Given the description of an element on the screen output the (x, y) to click on. 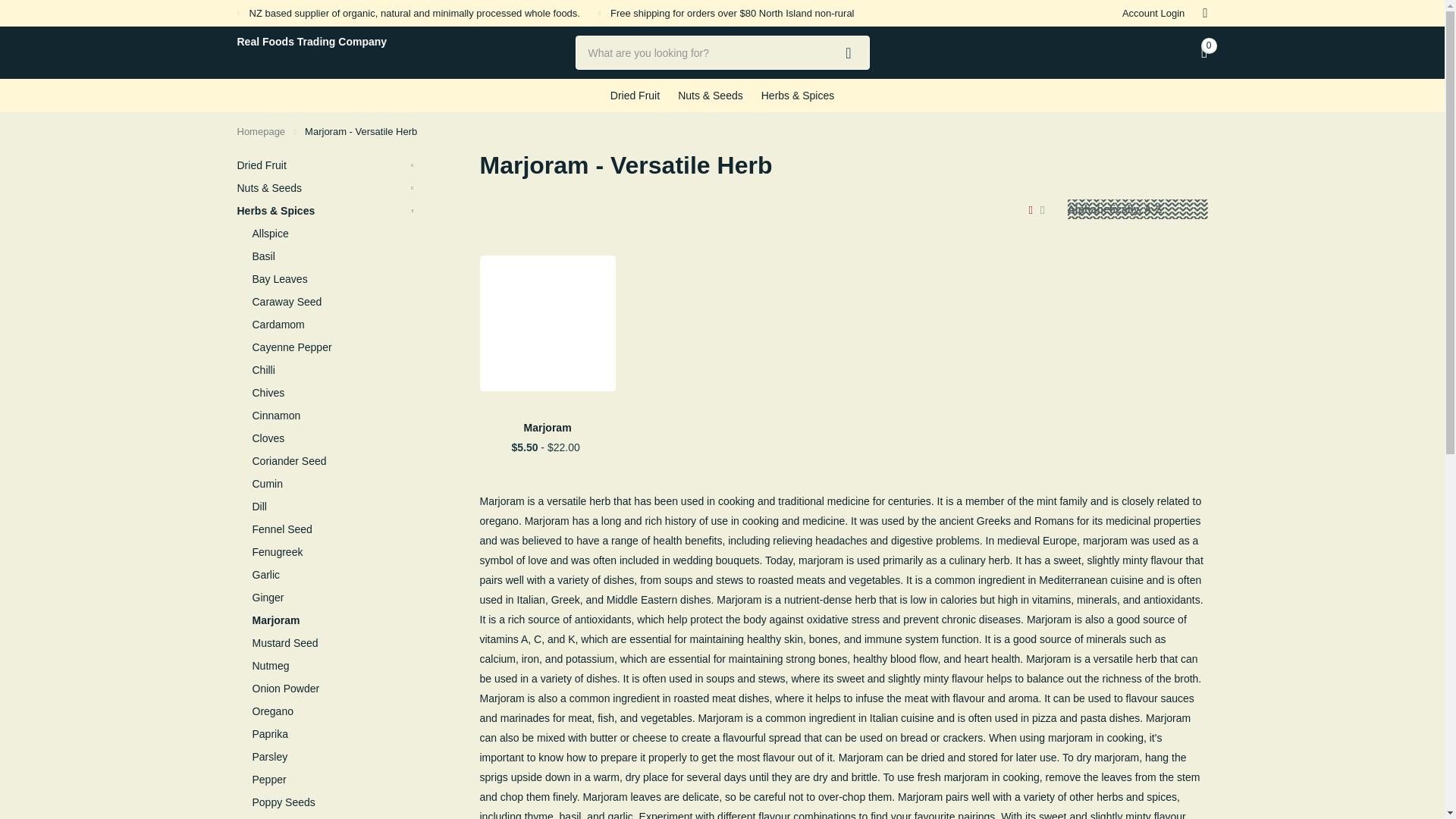
Homepage (260, 131)
Marjoram (546, 427)
Zoeken (848, 52)
Dried Fruit (634, 95)
Dried Fruit (324, 164)
Toggle Dried Fruit (412, 164)
Account Login (1153, 13)
Home (260, 131)
